Given the description of an element on the screen output the (x, y) to click on. 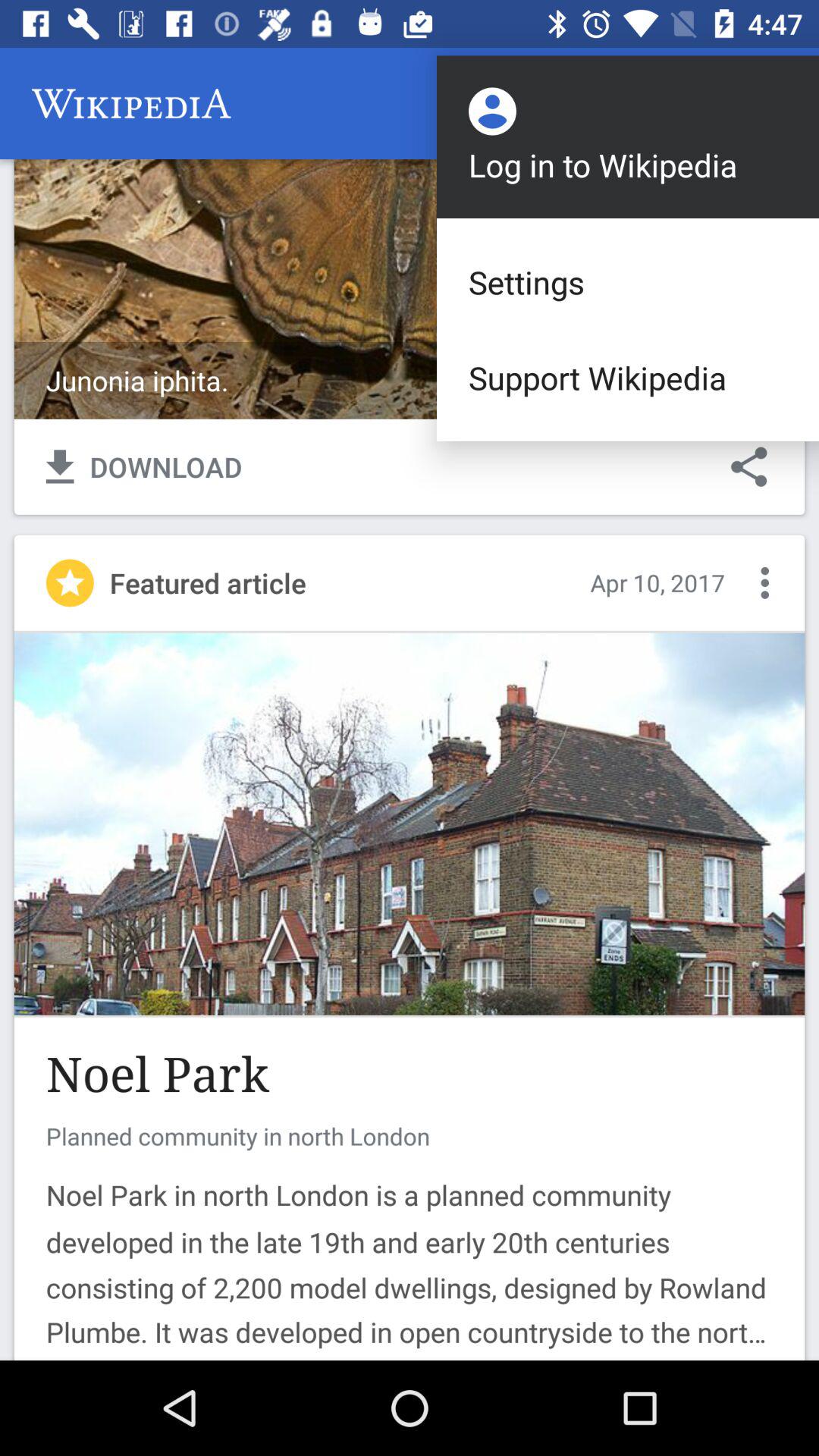
scroll until the settings icon (627, 281)
